Given the description of an element on the screen output the (x, y) to click on. 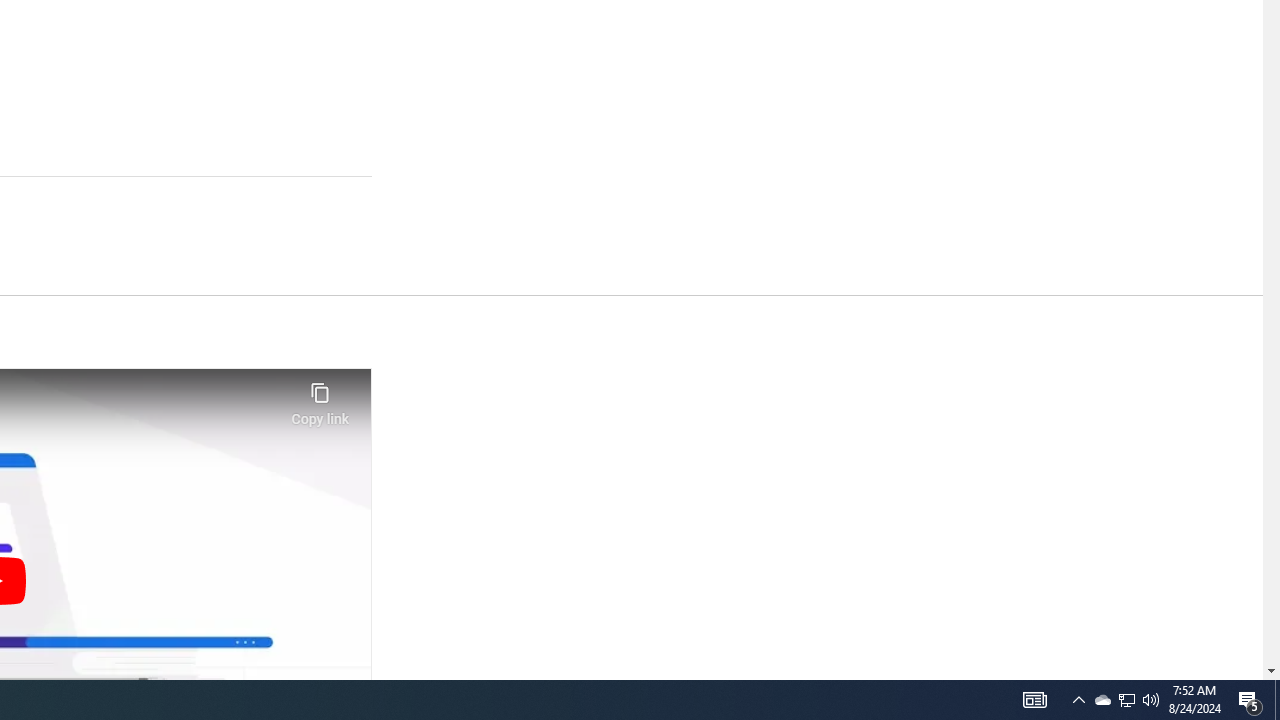
Copy link (319, 398)
